Given the description of an element on the screen output the (x, y) to click on. 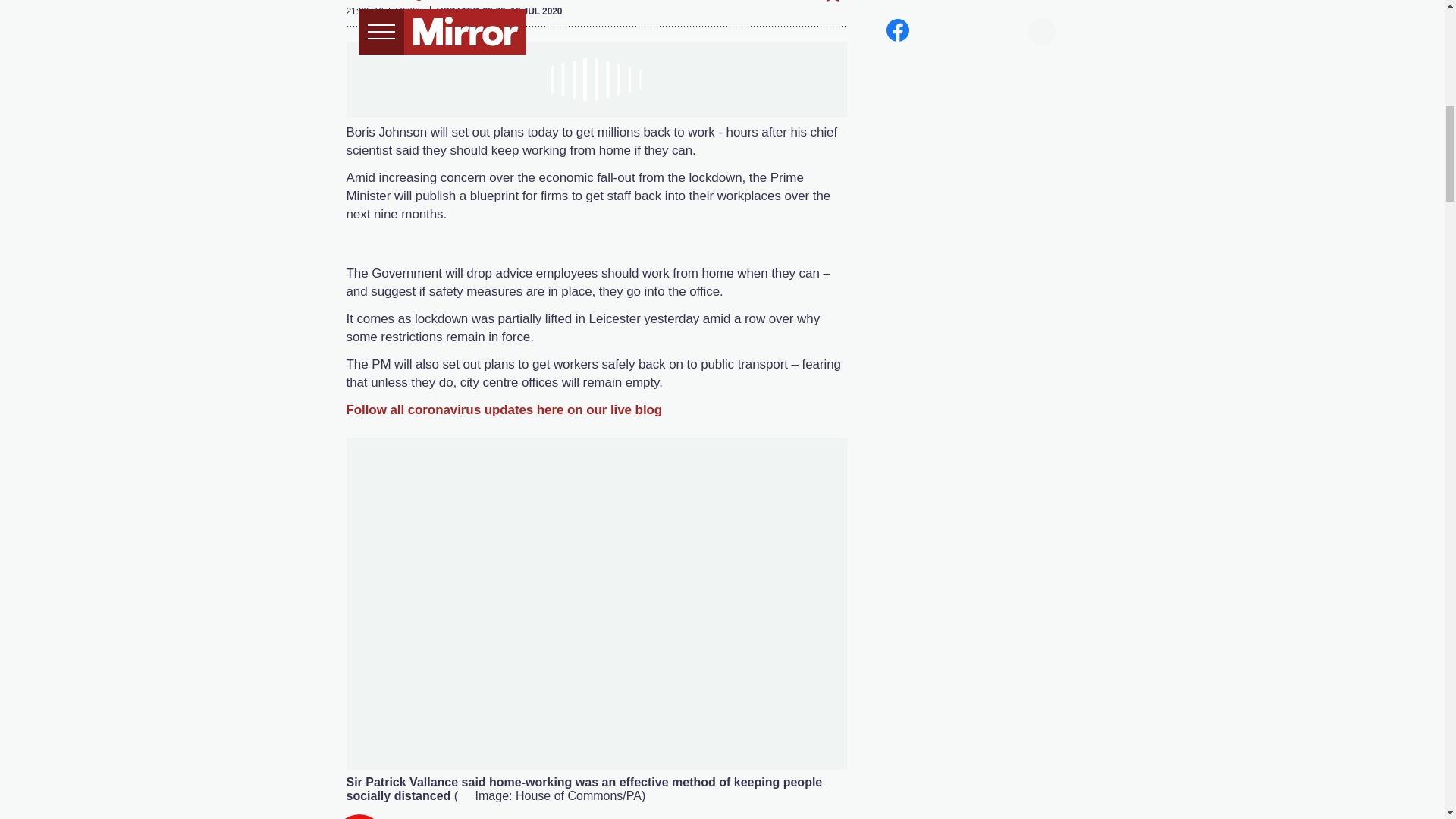
Twitter (627, 2)
Facebook (596, 2)
